Given the description of an element on the screen output the (x, y) to click on. 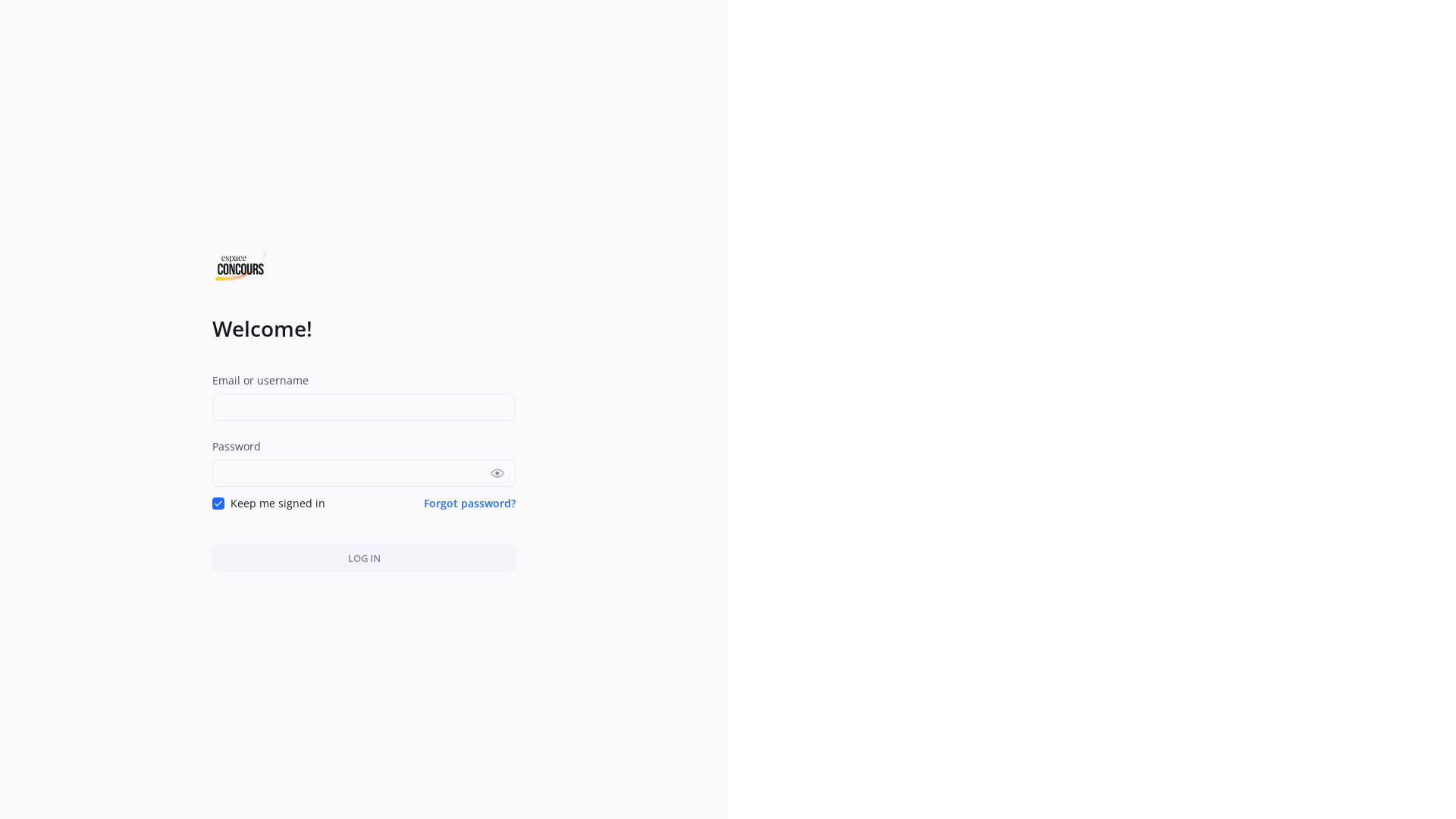
Forgot password? Element type: text (469, 502)
LOG IN Element type: text (363, 557)
